Given the description of an element on the screen output the (x, y) to click on. 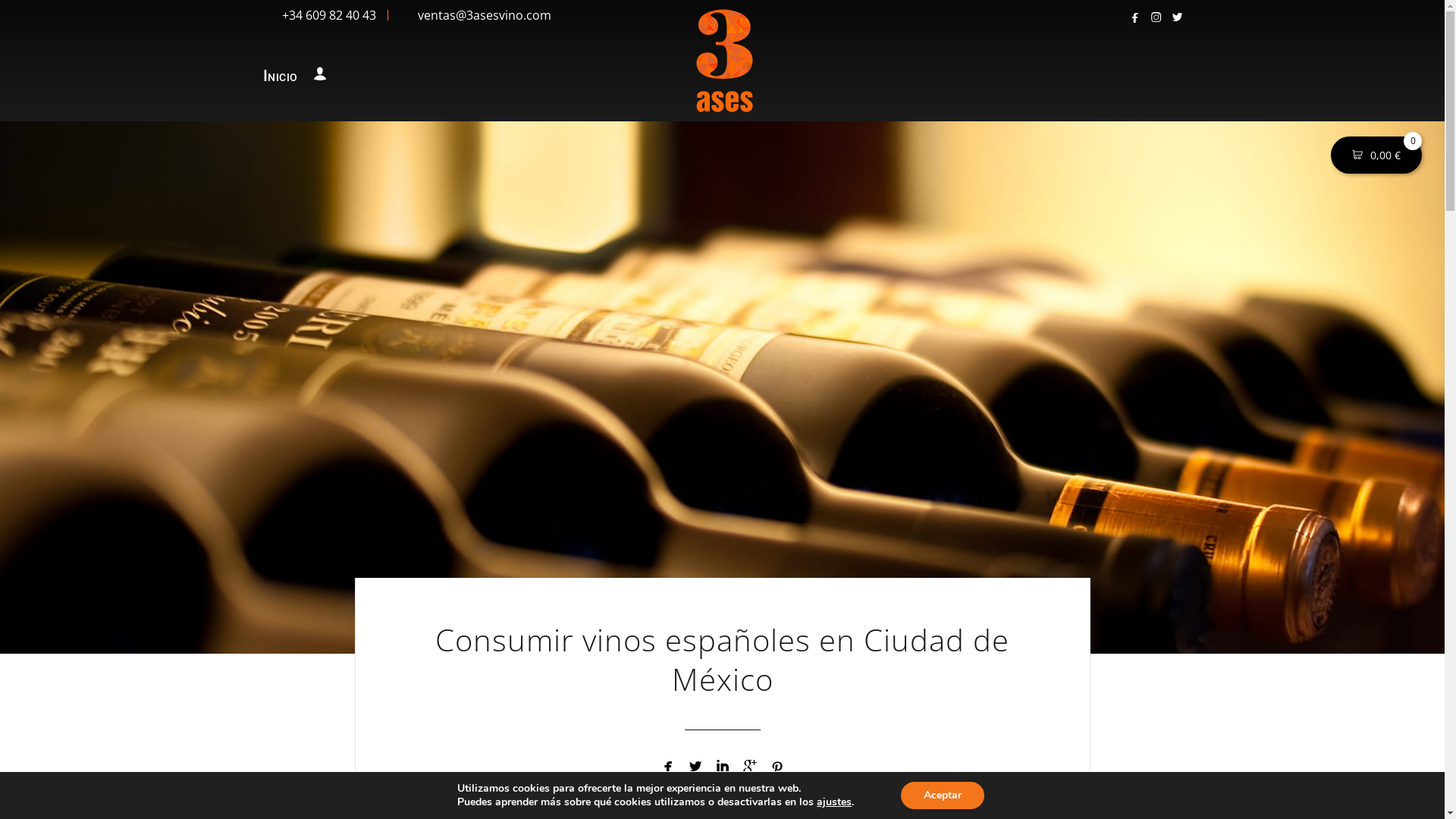
Login / Register Element type: hover (316, 75)
Aceptar Element type: text (942, 795)
INICIO Element type: text (283, 75)
ajustes Element type: text (833, 802)
